Given the description of an element on the screen output the (x, y) to click on. 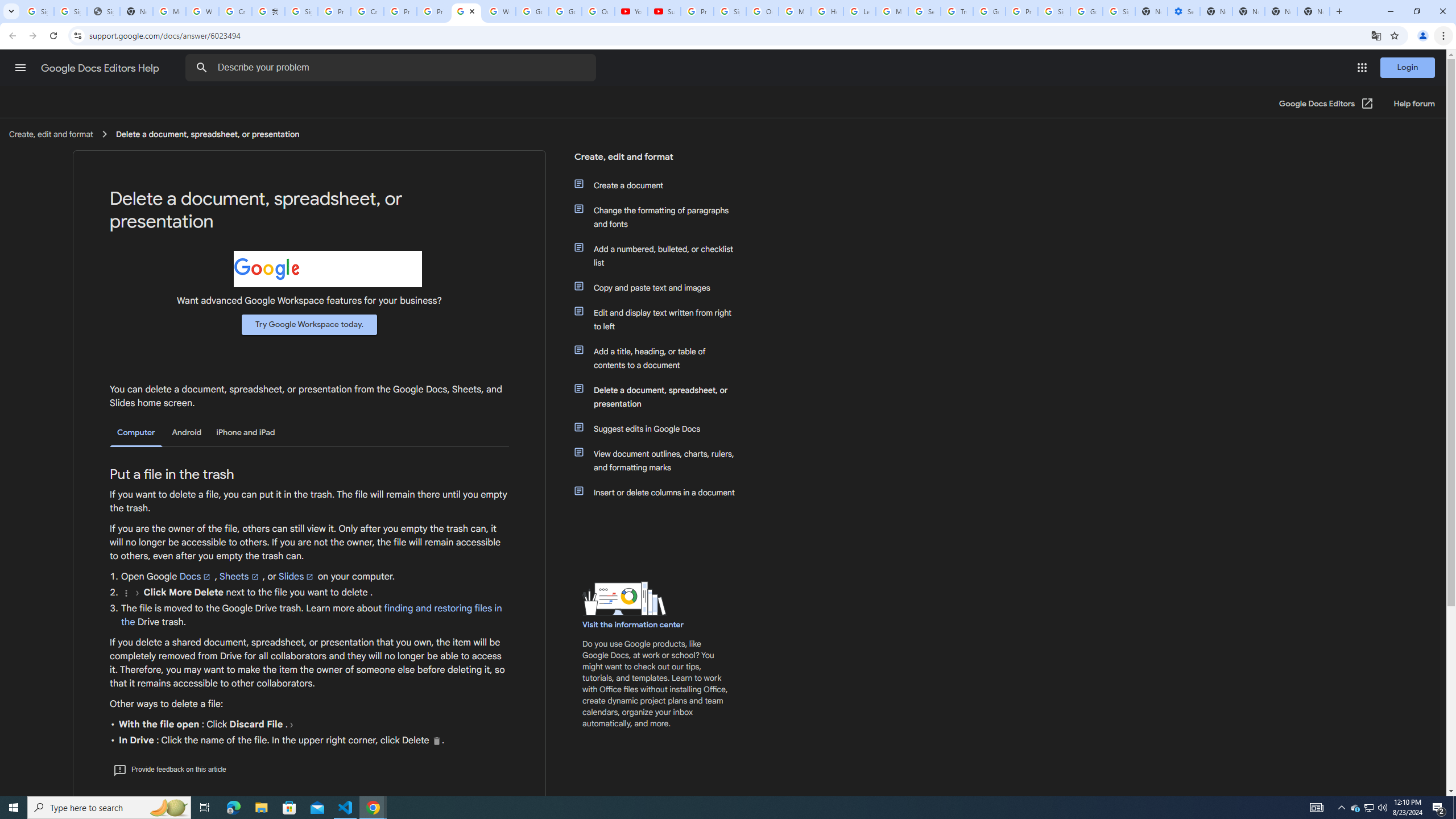
Edit and display text written from right to left (661, 319)
Visit the information center (633, 624)
Sign in - Google Accounts (1118, 11)
Sign in - Google Accounts (70, 11)
Android (186, 432)
